Given the description of an element on the screen output the (x, y) to click on. 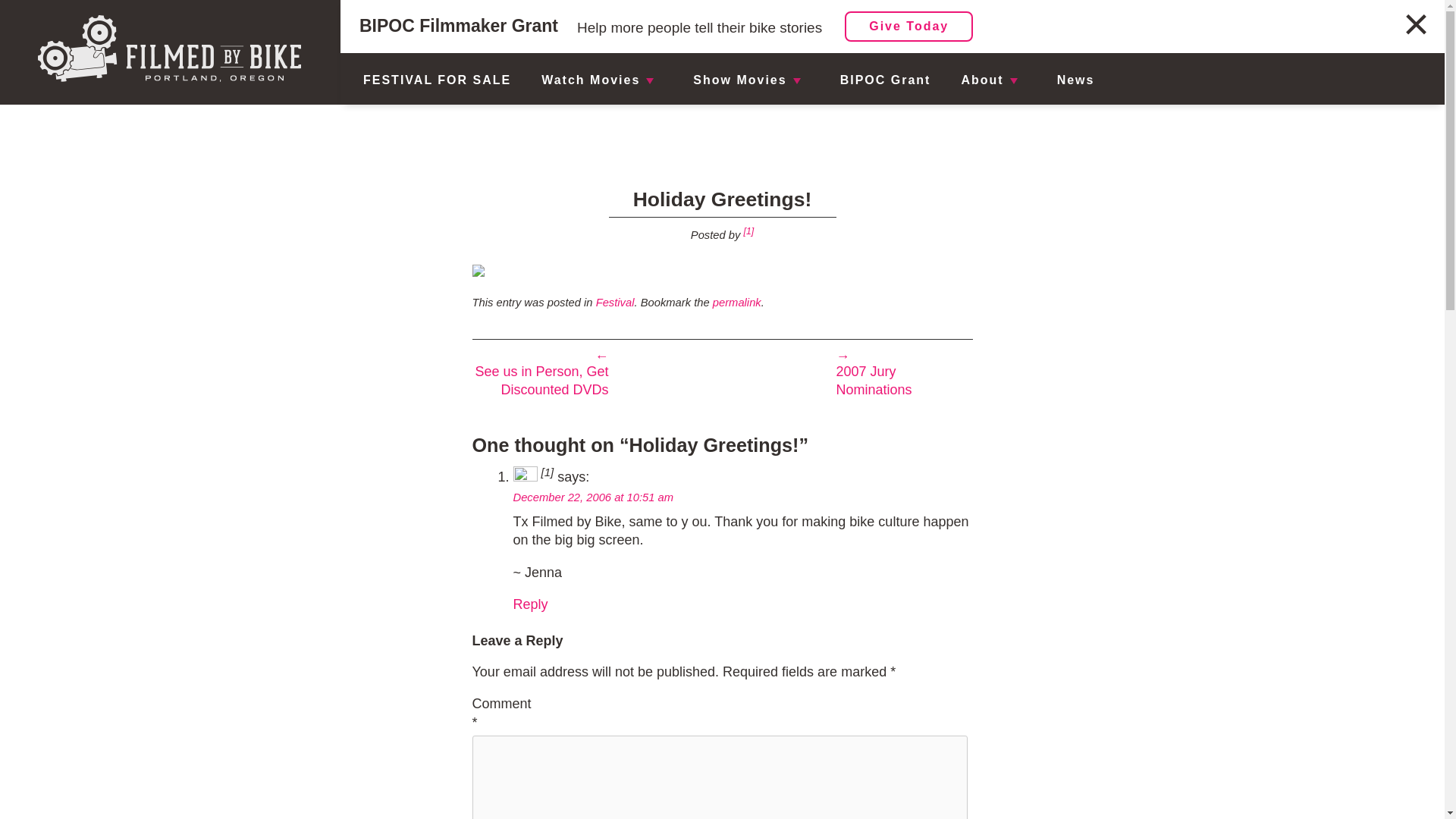
December 22, 2006 at 10:51 am (592, 497)
Watch Movies (590, 80)
Advertise With Us (1082, 15)
Filmed by Bike (748, 230)
News (1075, 80)
About (981, 80)
Show Movies (739, 80)
Filmed by Bike: The World's Best Bike Movies (169, 48)
BIPOC Grant (885, 80)
Tour Dates (682, 85)
Background (1082, 85)
Give Today (908, 26)
Reply (529, 604)
FESTIVAL FOR SALE (436, 80)
